Given the description of an element on the screen output the (x, y) to click on. 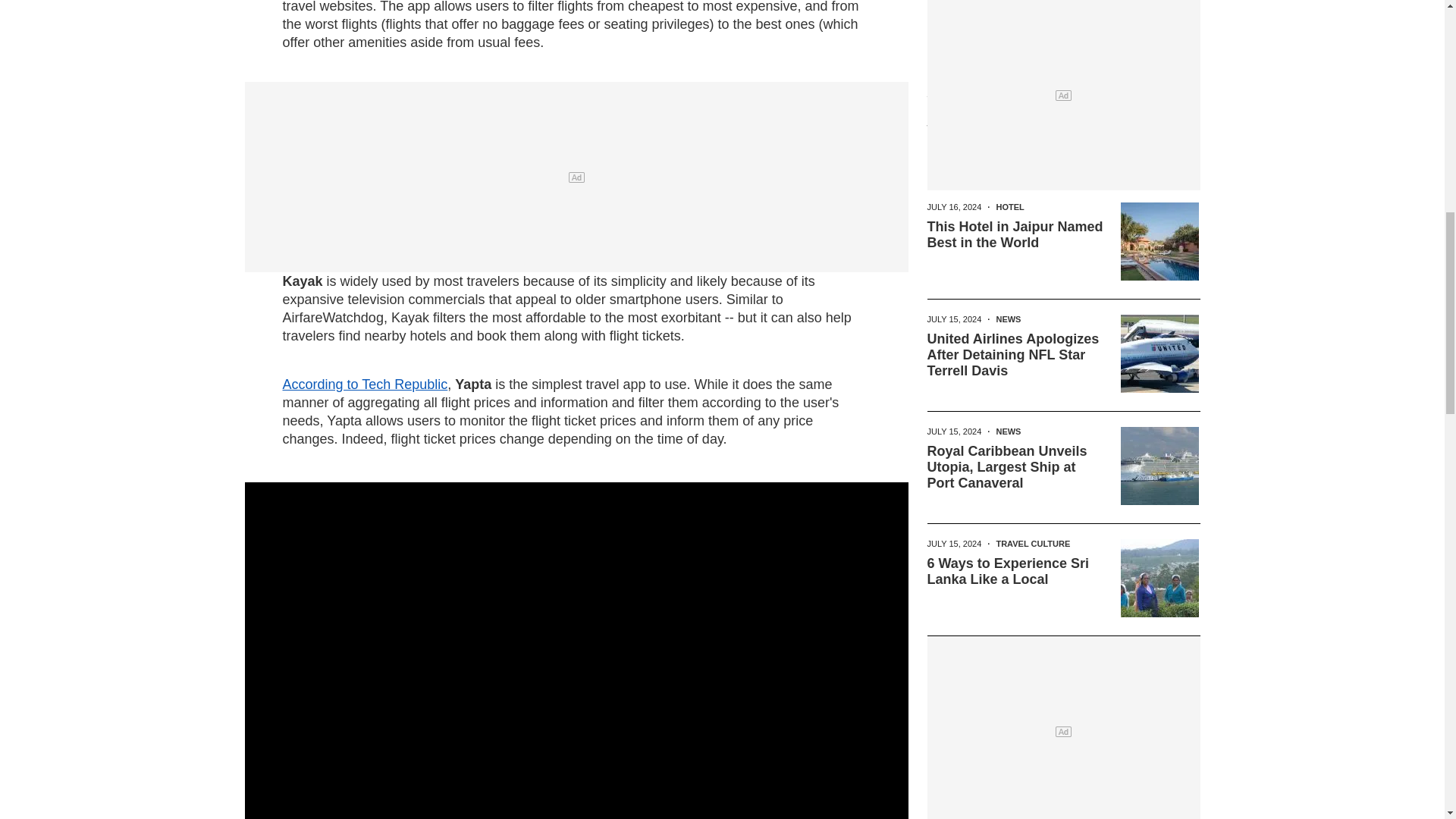
Is It Worth Hiking All the Way to Pena Palace? (1004, 122)
EUROPE (1012, 94)
NEWS (1007, 318)
This Hotel in Jaipur Named Best in the World (1014, 234)
According to Tech Republic (364, 384)
HOTEL (1009, 206)
